Given the description of an element on the screen output the (x, y) to click on. 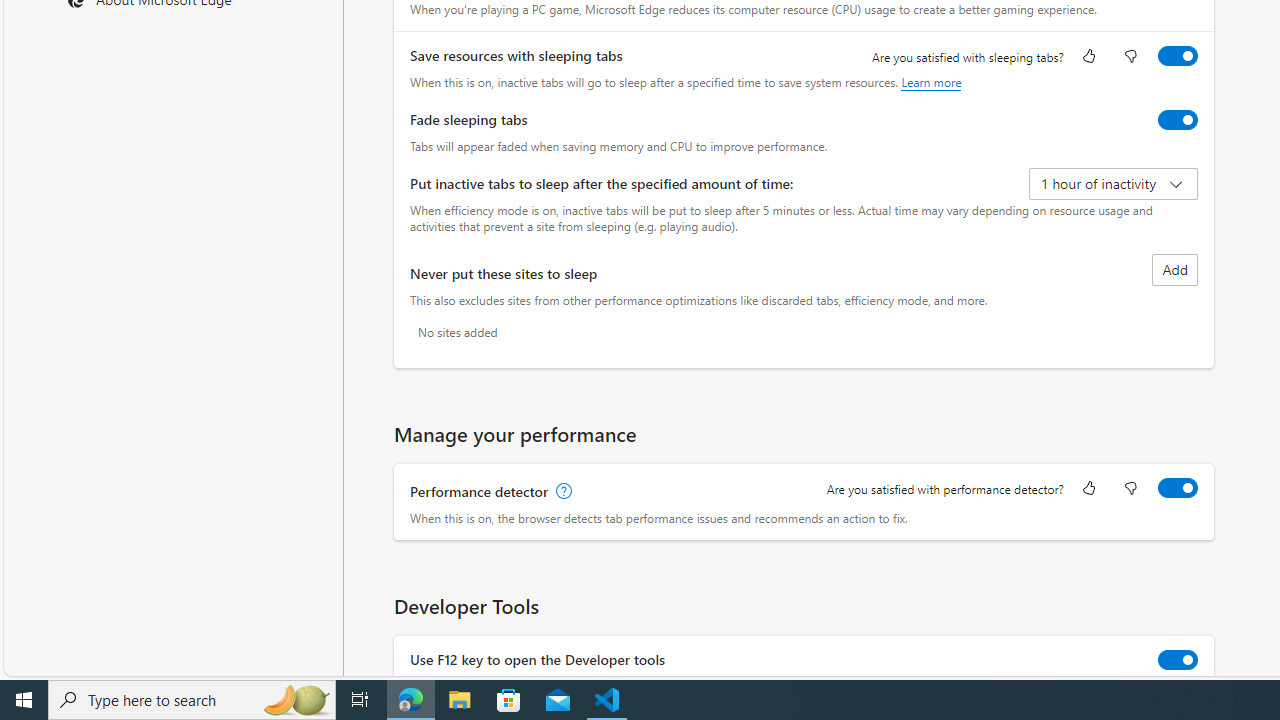
Microsoft Edge - 1 running window (411, 699)
Performance detector (1178, 488)
